Given the description of an element on the screen output the (x, y) to click on. 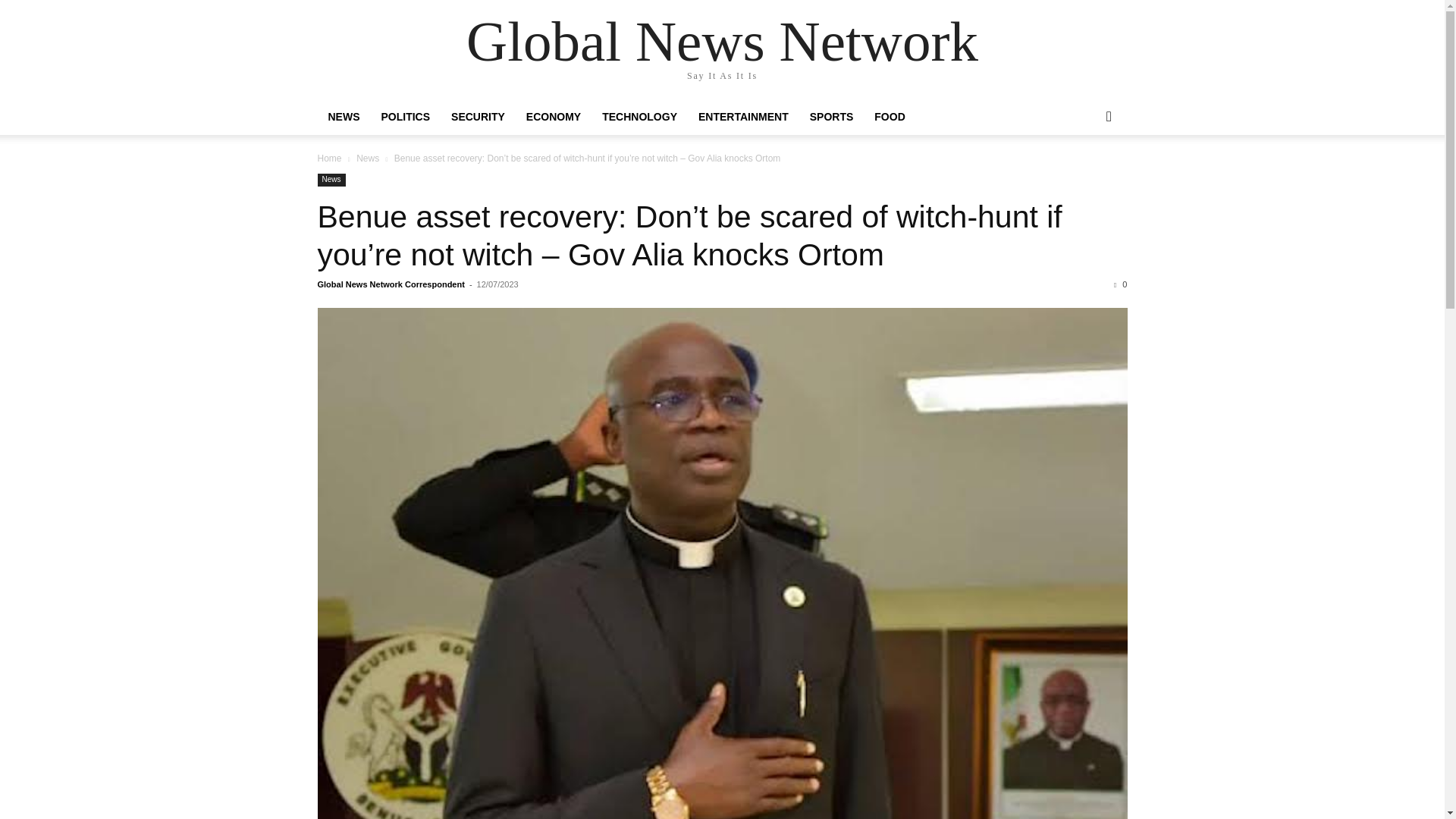
TECHNOLOGY (639, 116)
FOOD (889, 116)
ECONOMY (553, 116)
News (331, 179)
View all posts in News (367, 158)
News (367, 158)
SECURITY (478, 116)
Search (1085, 177)
NEWS (343, 116)
0 (1119, 284)
